Given the description of an element on the screen output the (x, y) to click on. 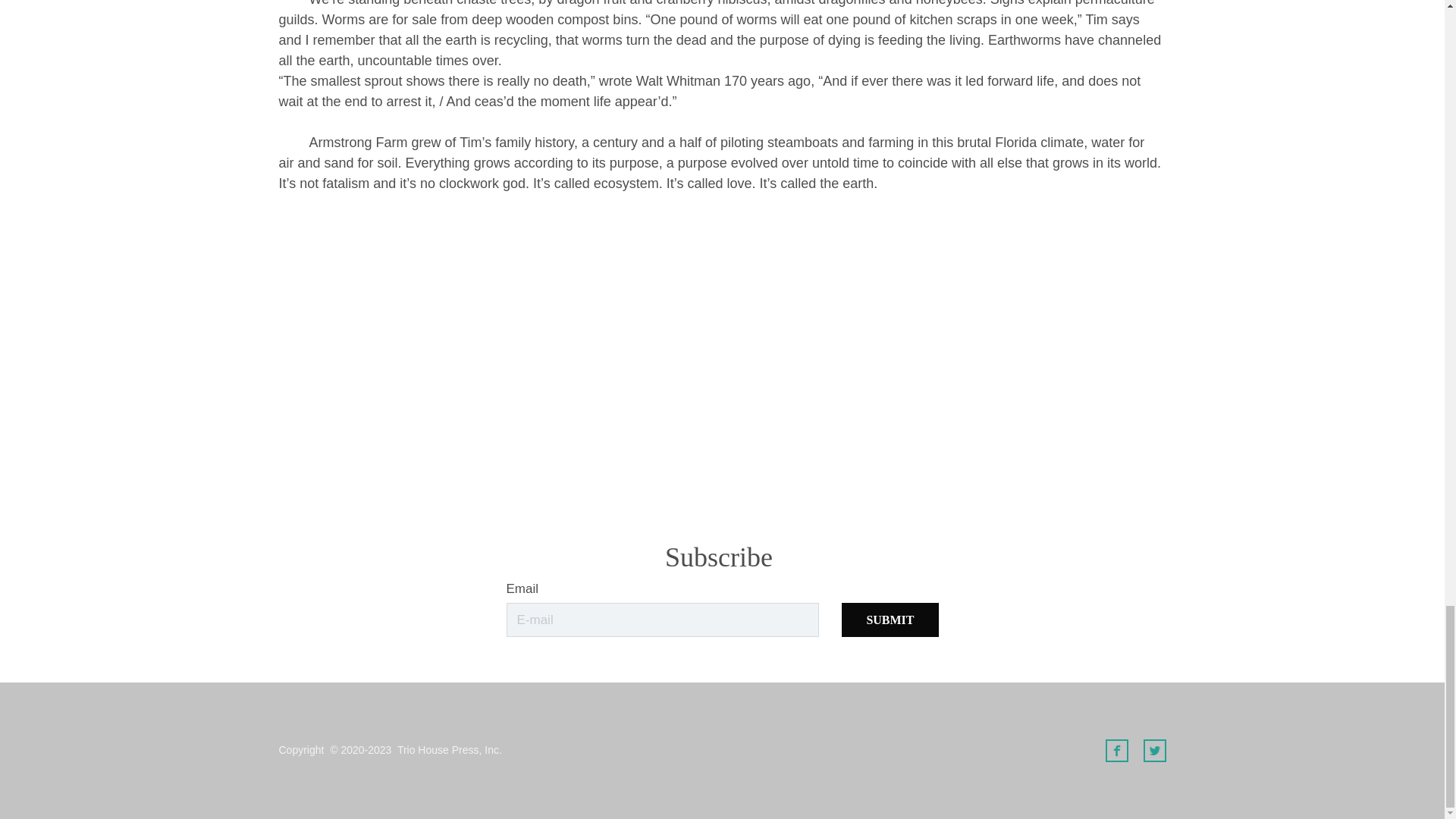
SUBMIT (889, 619)
